Given the description of an element on the screen output the (x, y) to click on. 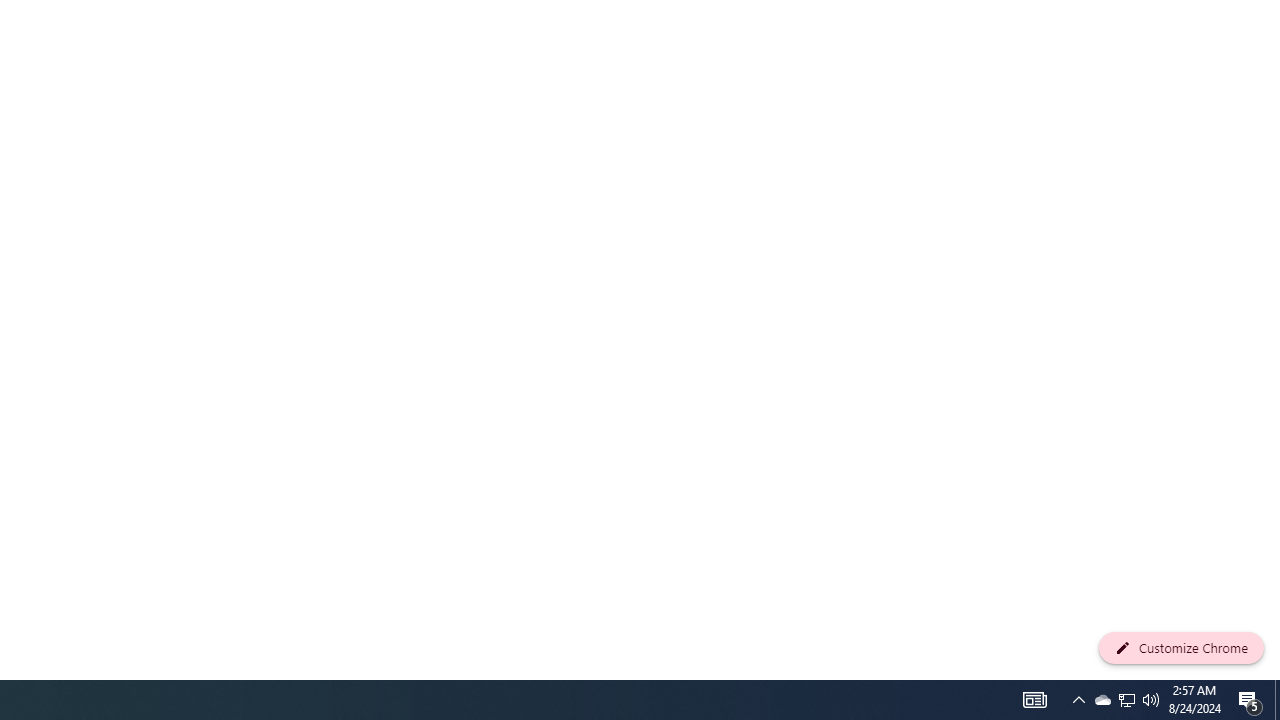
Customize Chrome (1181, 647)
